Given the description of an element on the screen output the (x, y) to click on. 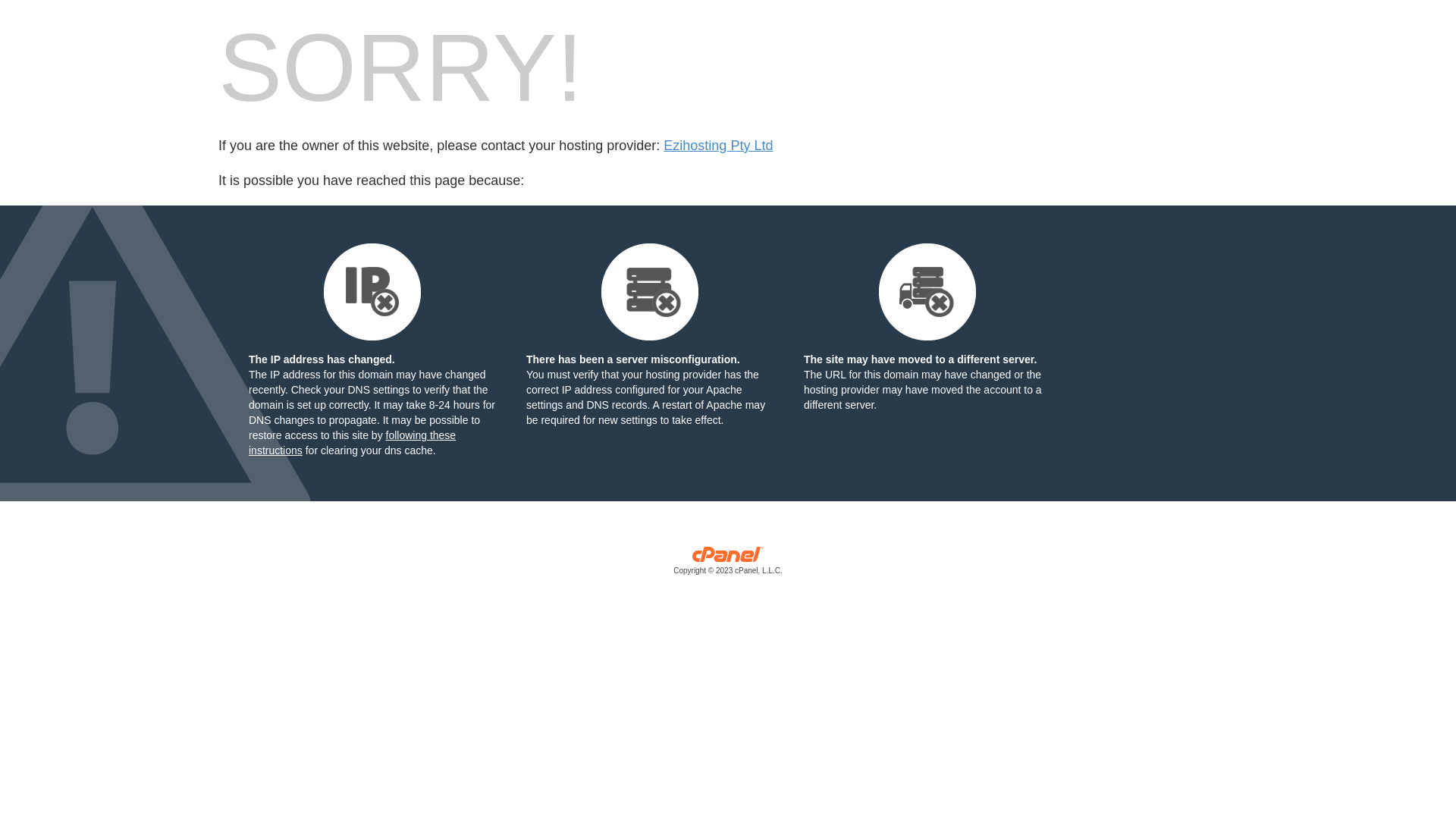
Ezihosting Pty Ltd Element type: text (717, 145)
following these instructions Element type: text (351, 442)
